Given the description of an element on the screen output the (x, y) to click on. 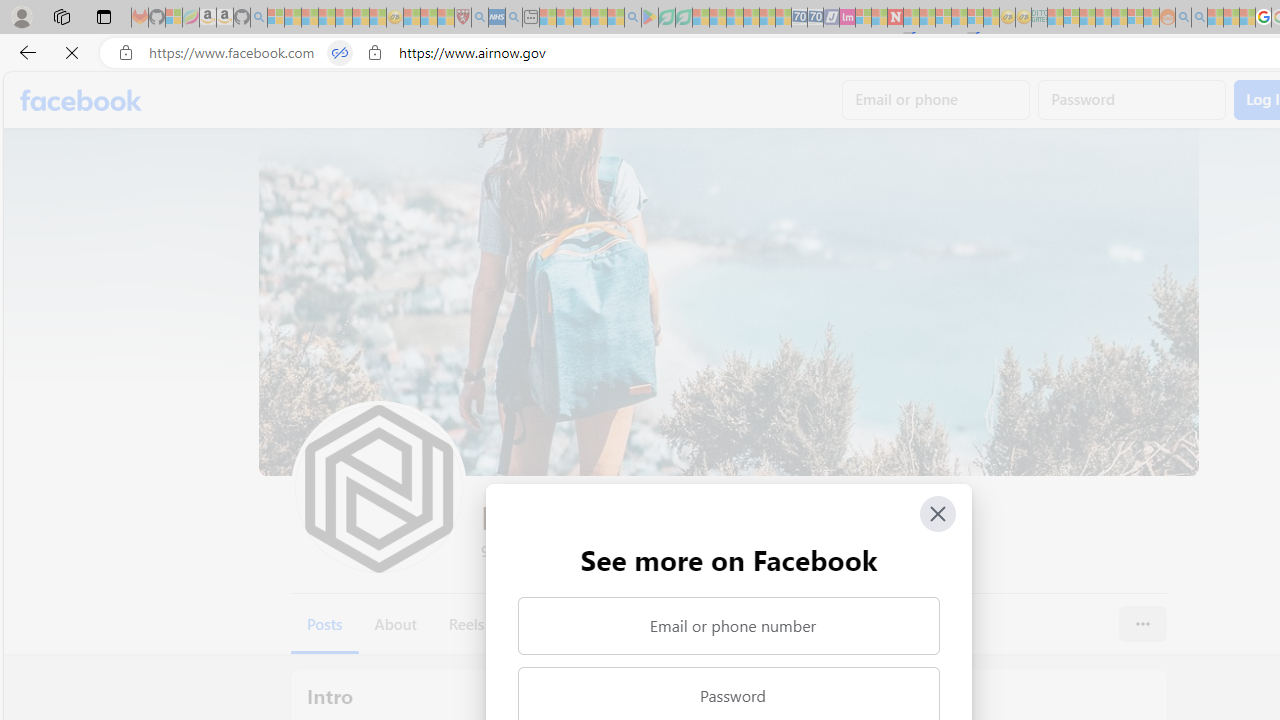
Local - MSN - Sleeping (445, 17)
Jobs - lastminute.com Investor Portal - Sleeping (847, 17)
Tabs in split screen (339, 53)
Cheap Hotels - Save70.com - Sleeping (815, 17)
Expert Portfolios - Sleeping (1103, 17)
